Given the description of an element on the screen output the (x, y) to click on. 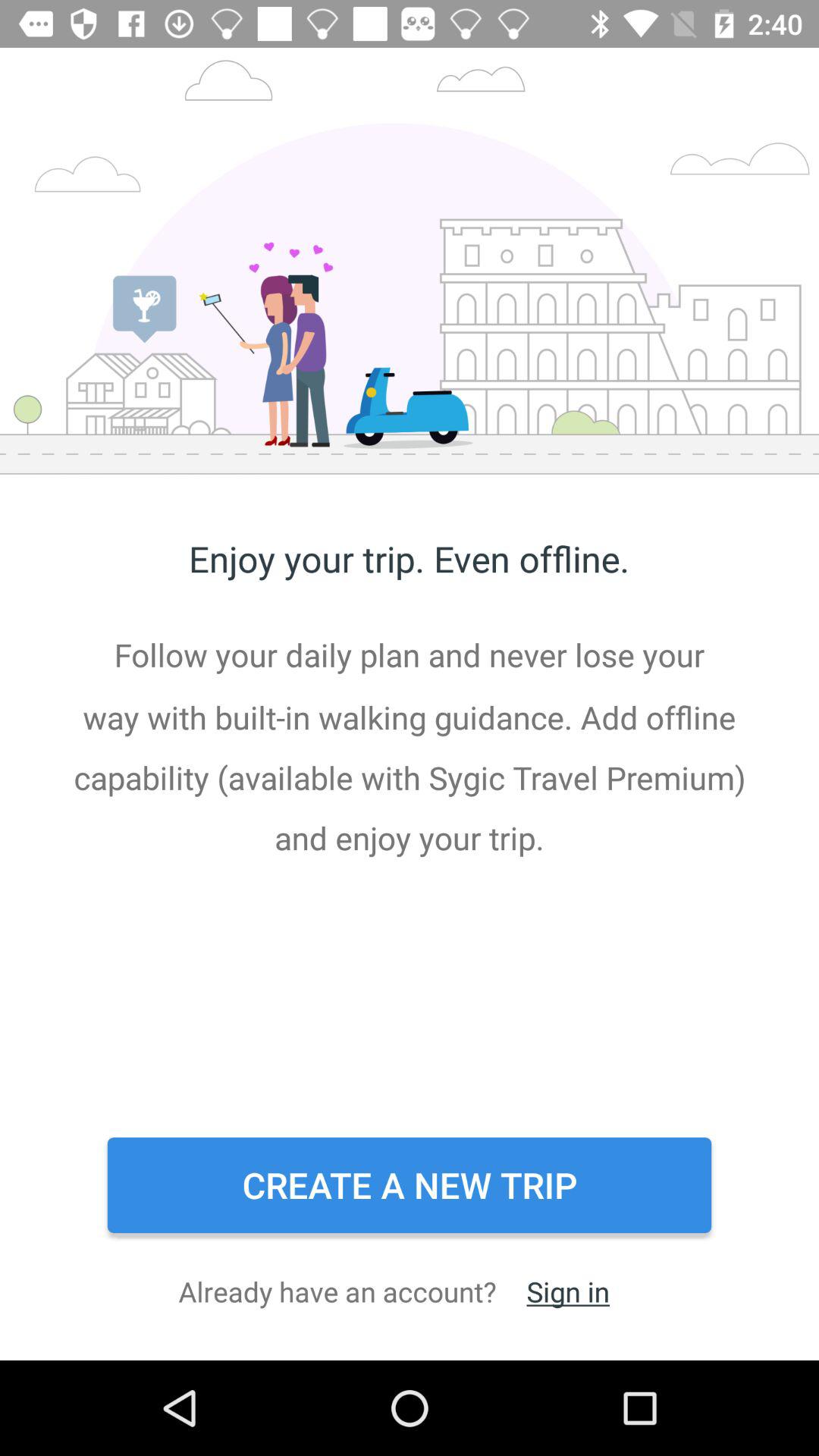
flip until the sign in item (567, 1291)
